Given the description of an element on the screen output the (x, y) to click on. 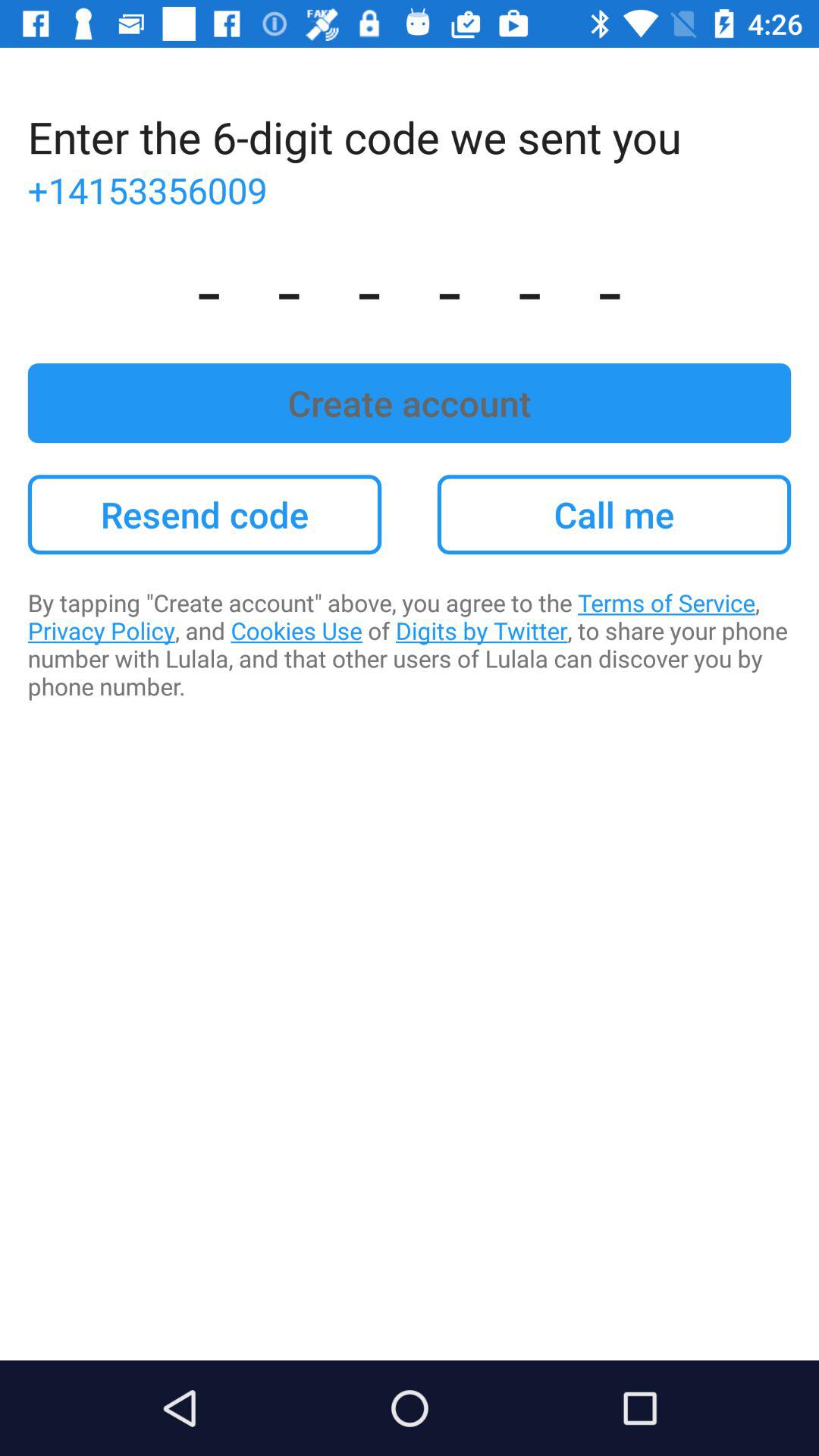
launch app below enter the 6 (409, 190)
